Given the description of an element on the screen output the (x, y) to click on. 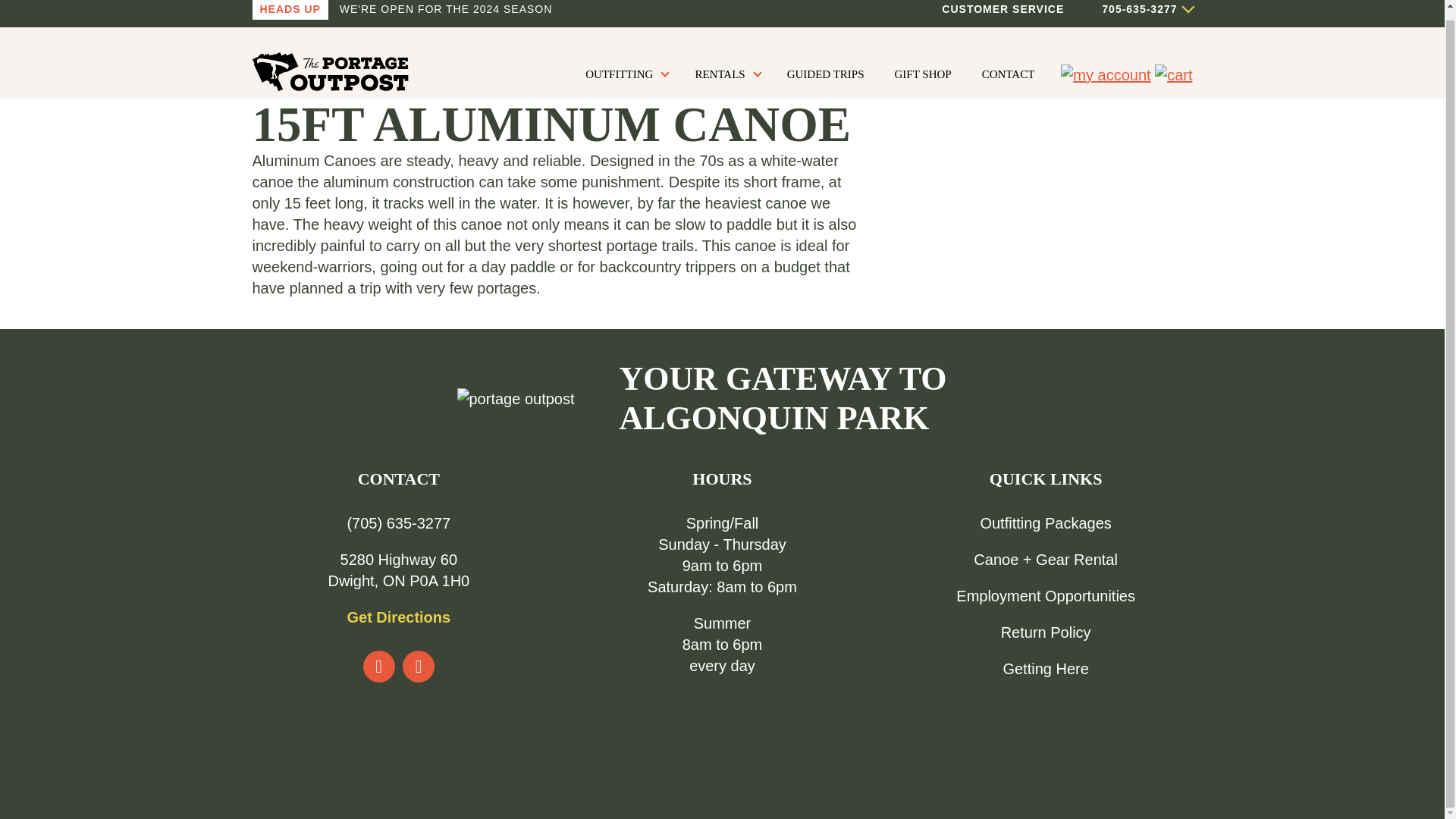
GUIDED TRIPS (825, 73)
Employment Opportunities (1045, 596)
CONTACT (1008, 73)
Outfitting Packages (1044, 523)
705-635-3277 (1127, 9)
OUTFITTING (624, 73)
Get Directions (397, 617)
RENTALS (725, 73)
Getting Here (1045, 668)
GIFT SHOP (923, 73)
